Given the description of an element on the screen output the (x, y) to click on. 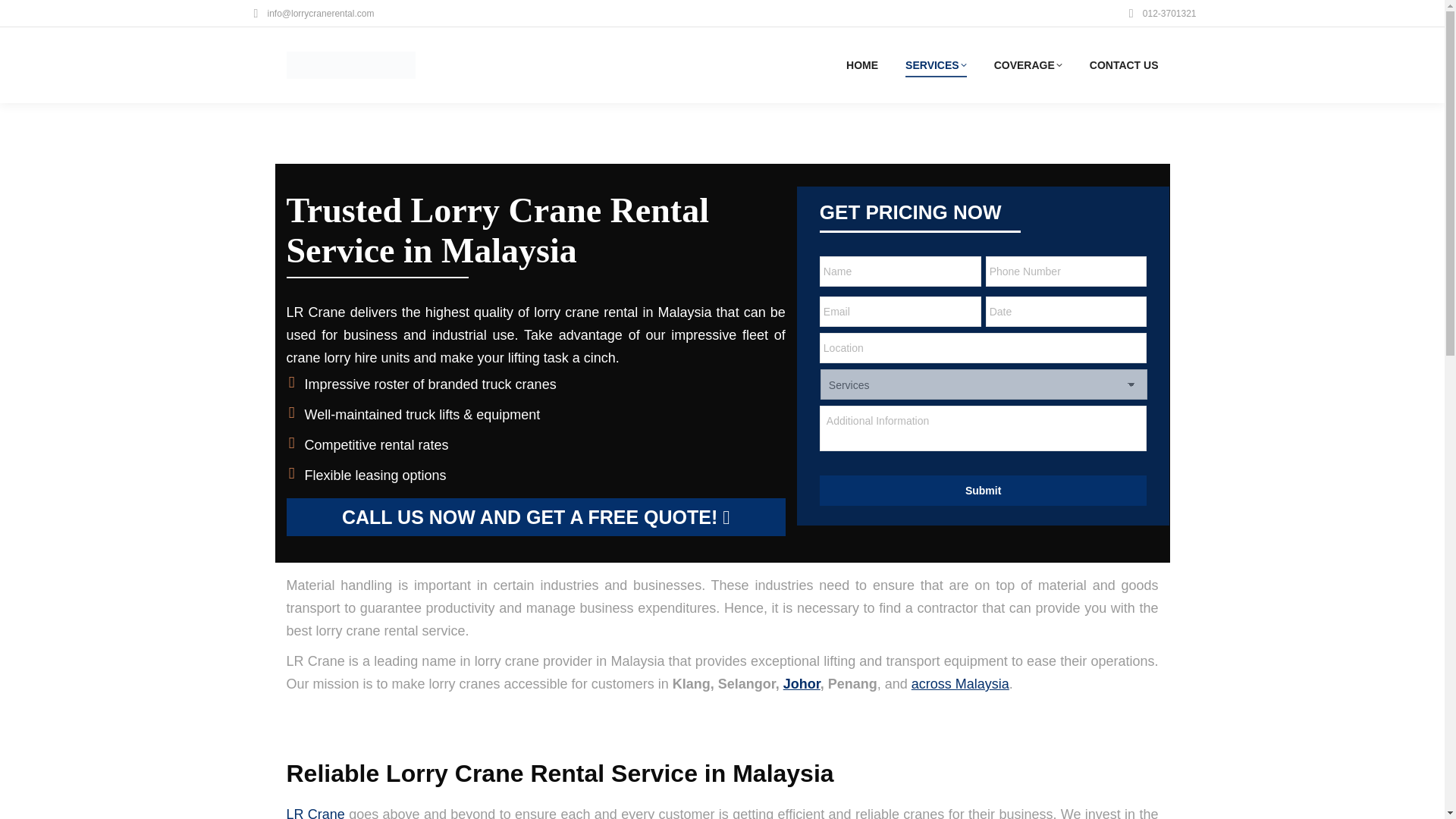
COVERAGE (1028, 65)
Submit (983, 490)
012-3701321 (1160, 13)
SERVICES (935, 65)
